Given the description of an element on the screen output the (x, y) to click on. 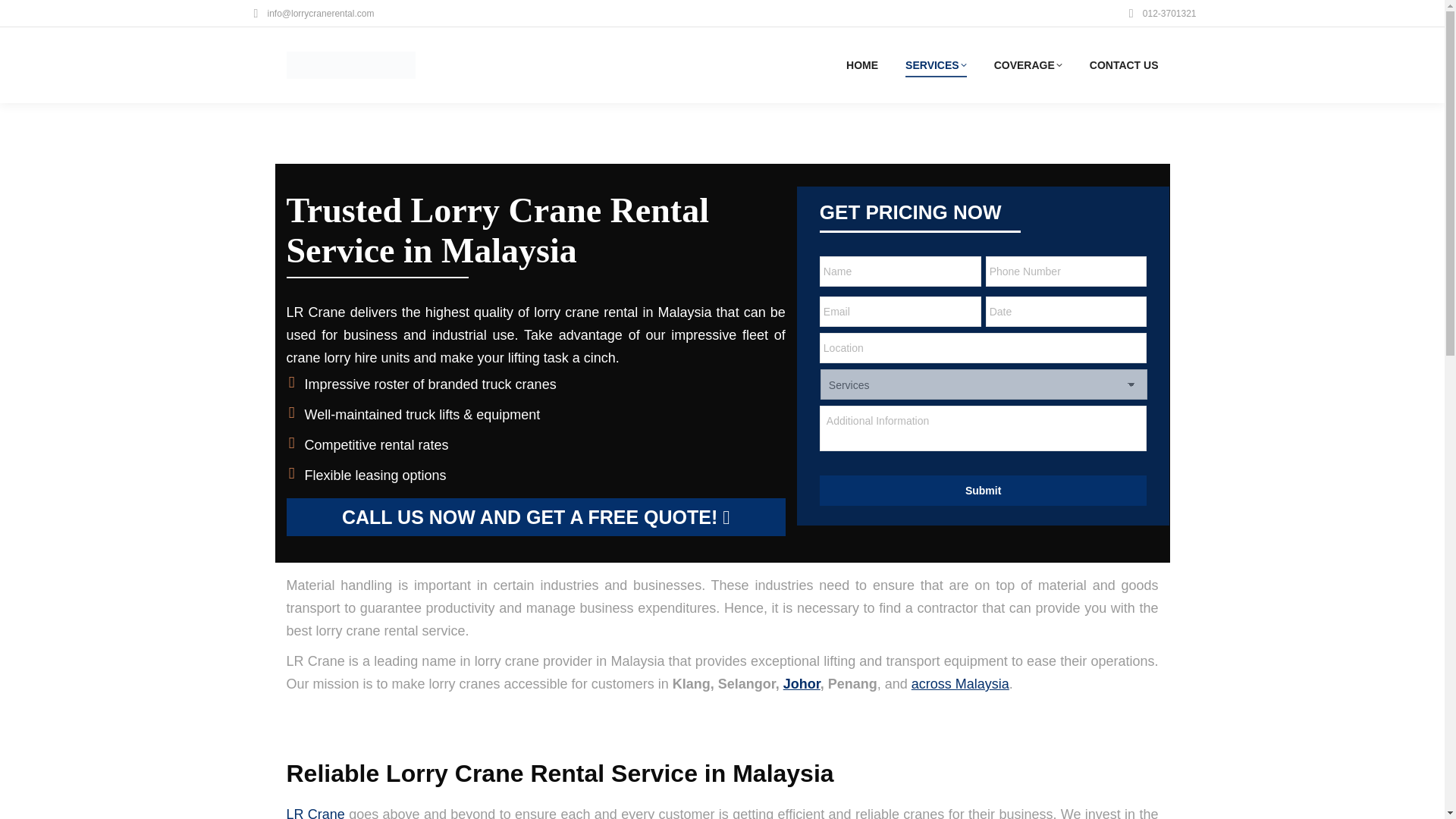
COVERAGE (1028, 65)
Submit (983, 490)
012-3701321 (1160, 13)
SERVICES (935, 65)
